Given the description of an element on the screen output the (x, y) to click on. 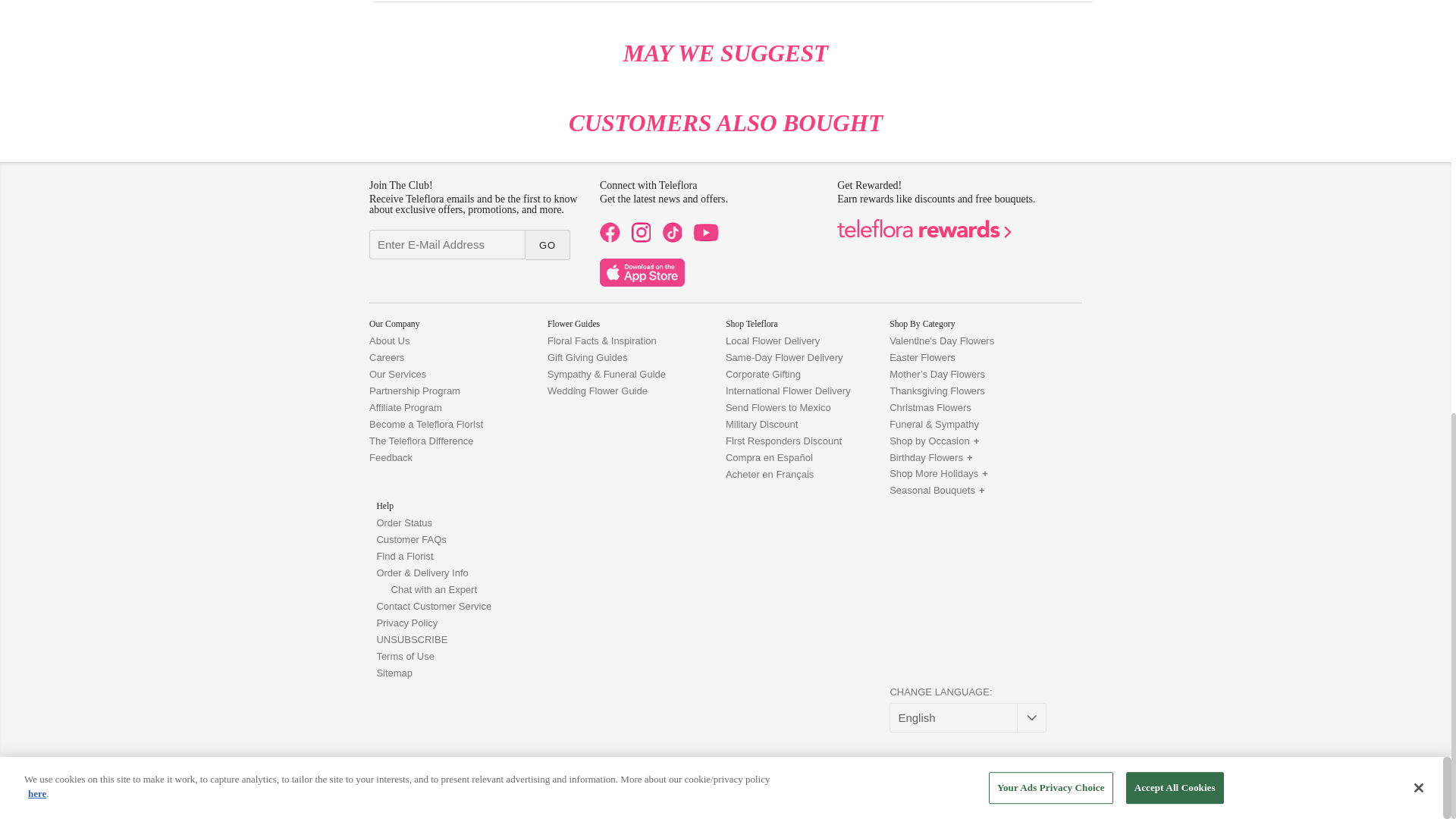
tiktok (671, 237)
GO (547, 245)
youtube (708, 237)
instagram (640, 237)
facebook (609, 237)
Email Sign up (447, 244)
